Given the description of an element on the screen output the (x, y) to click on. 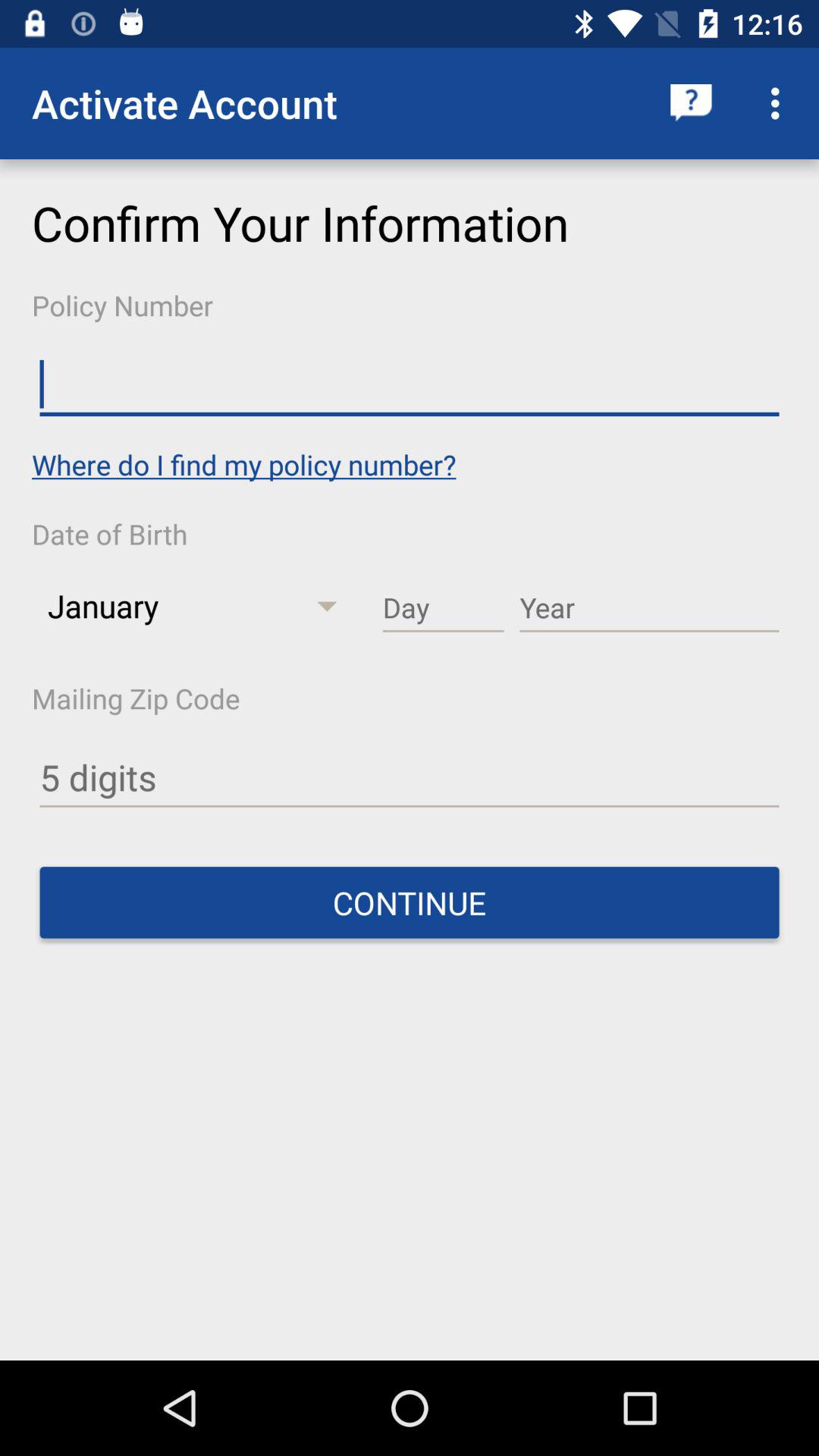
open item above date of birth (243, 464)
